Given the description of an element on the screen output the (x, y) to click on. 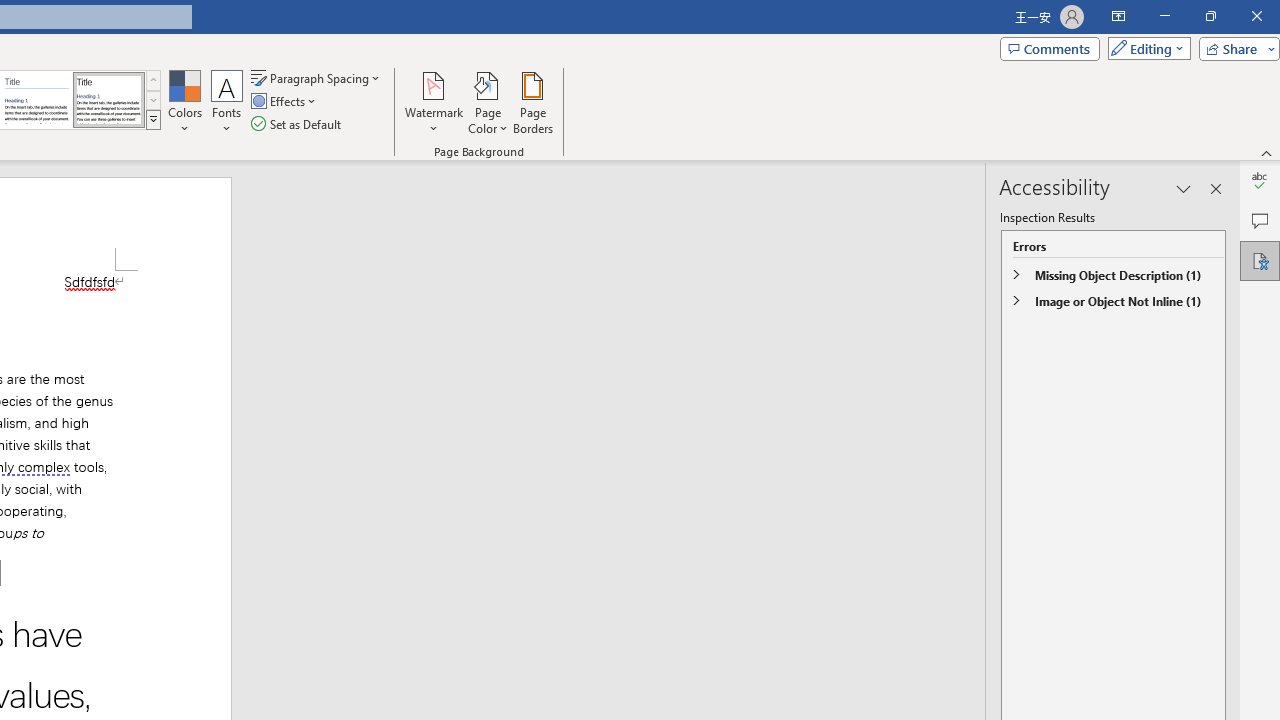
Colors (184, 102)
Accessibility (1260, 260)
Watermark (434, 102)
Fonts (227, 102)
Set as Default (298, 124)
Word 2010 (36, 100)
Word 2013 (108, 100)
Page Color (487, 102)
